Given the description of an element on the screen output the (x, y) to click on. 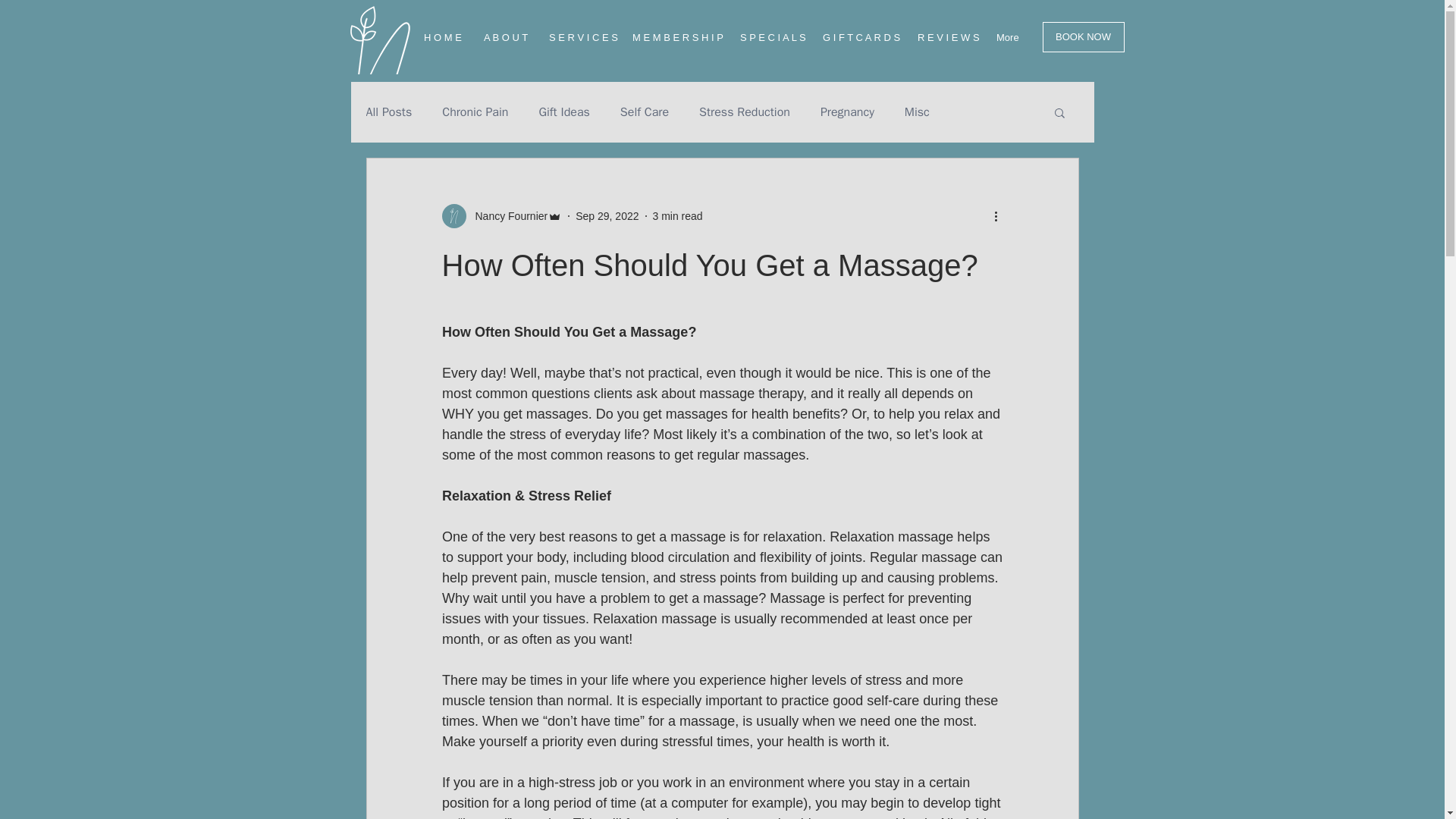
H O M E (441, 37)
Misc (917, 112)
Self Care (644, 112)
G I F T C A R D S (857, 37)
Pregnancy (848, 112)
Stress Reduction (744, 112)
R E V I E W S (945, 37)
Nancy Fournier (506, 215)
Sep 29, 2022 (607, 215)
Gift Ideas (563, 112)
All Posts (388, 112)
S P E C I A L S (769, 37)
S E R V I C E S (579, 37)
BOOK NOW (1083, 37)
3 min read (676, 215)
